Given the description of an element on the screen output the (x, y) to click on. 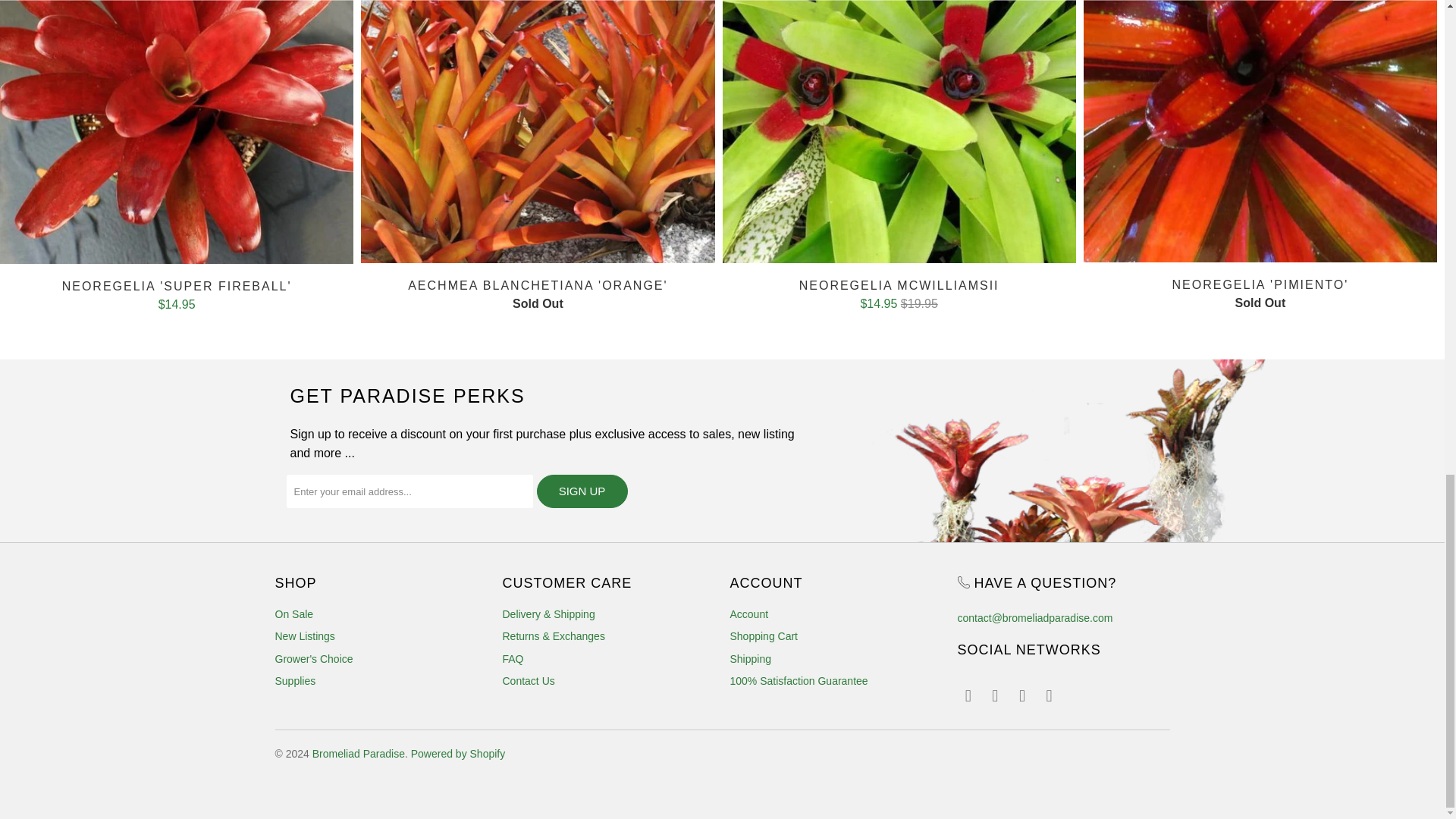
Sign Up (582, 491)
